Given the description of an element on the screen output the (x, y) to click on. 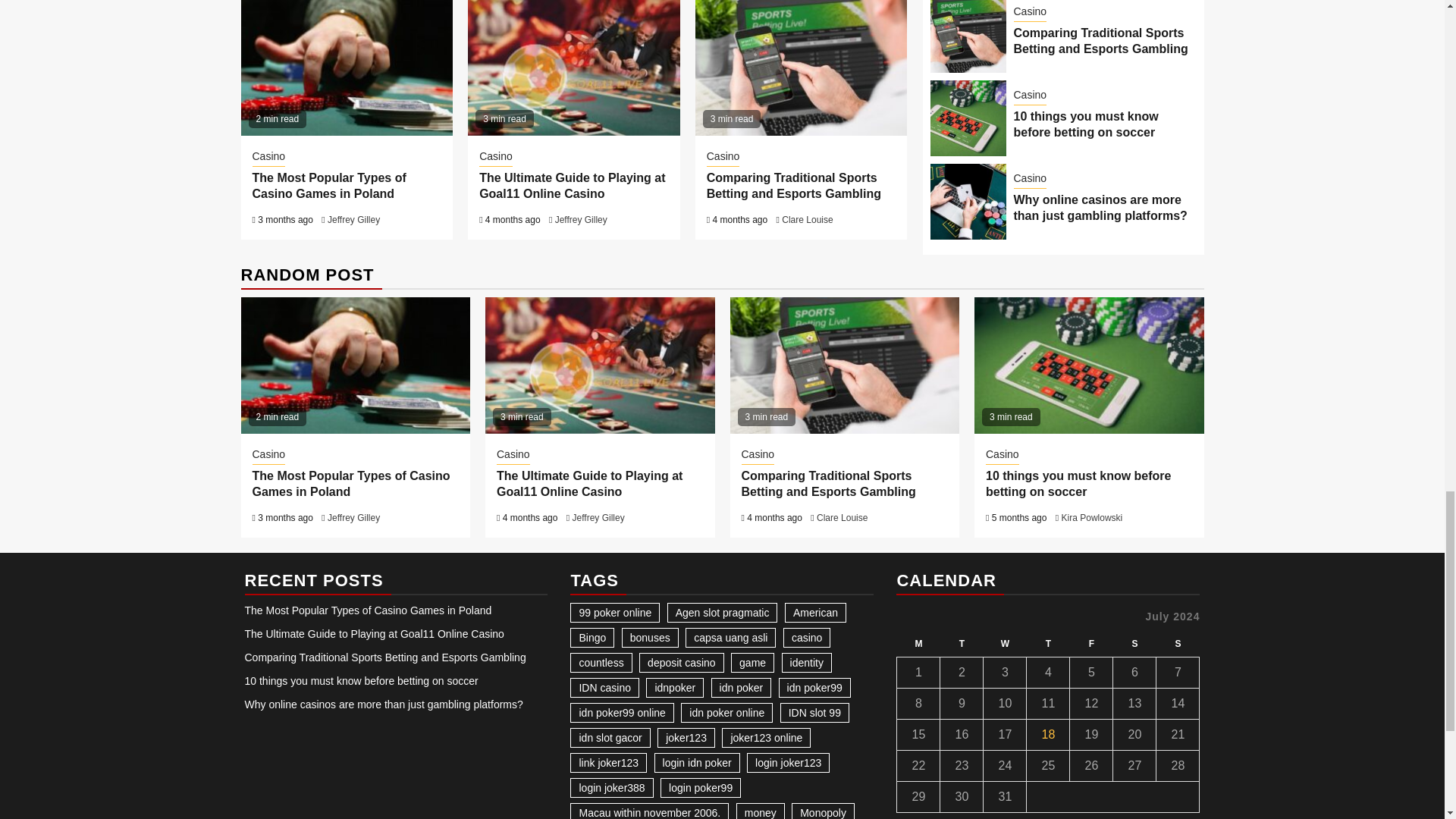
Monday (918, 643)
Friday (1091, 643)
Casino (495, 157)
Jeffrey Gilley (580, 219)
Saturday (1134, 643)
Wednesday (1005, 643)
Tuesday (962, 643)
Comparing Traditional Sports Betting and Esports Gambling (793, 185)
Casino (722, 157)
Sunday (1177, 643)
The Ultimate Guide to Playing at Goal11 Online Casino (572, 185)
Casino (268, 157)
Clare Louise (806, 219)
Thursday (1048, 643)
Jeffrey Gilley (353, 219)
